Given the description of an element on the screen output the (x, y) to click on. 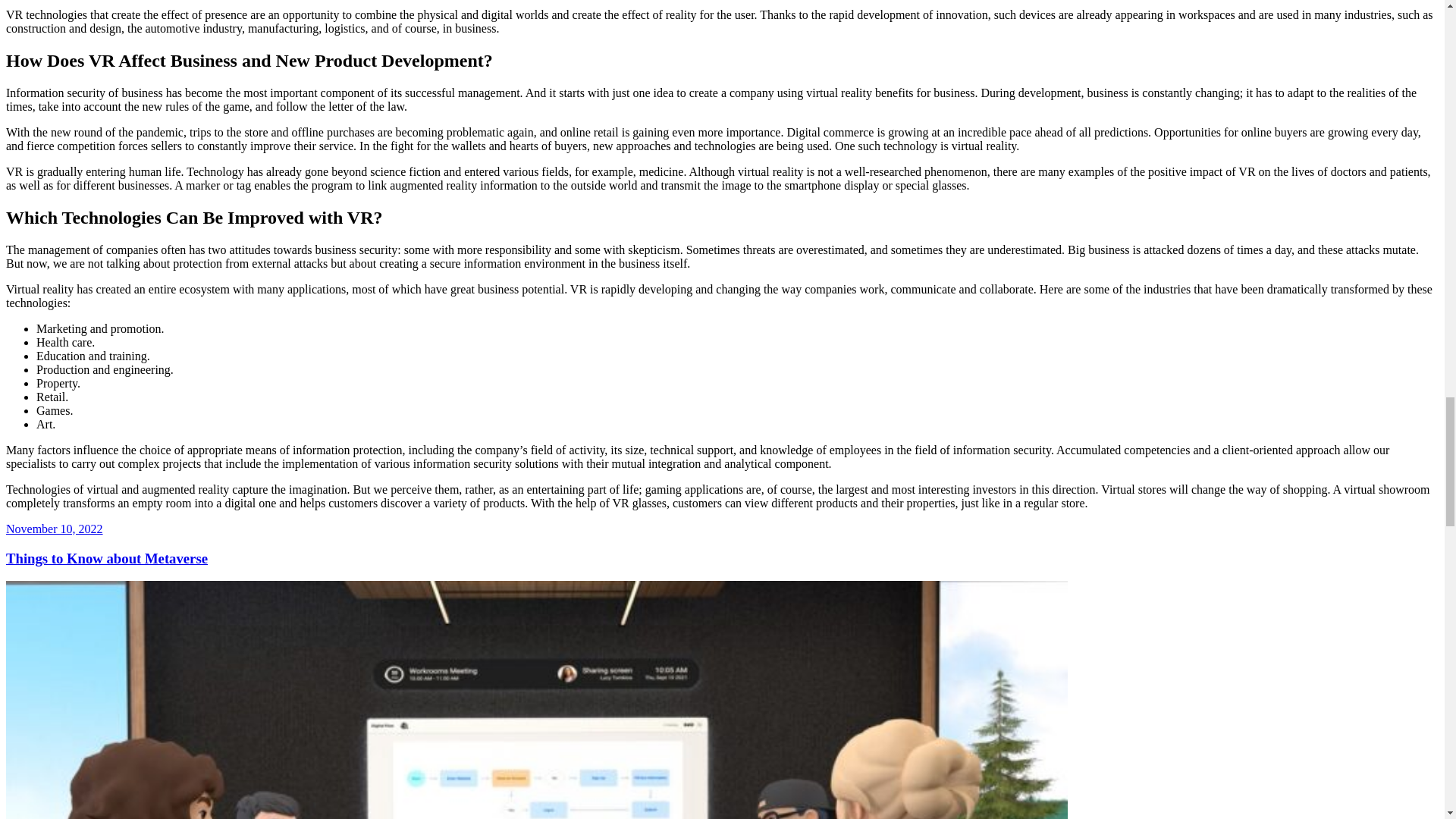
Things to Know about Metaverse (106, 558)
November 10, 2022 (54, 528)
